Given the description of an element on the screen output the (x, y) to click on. 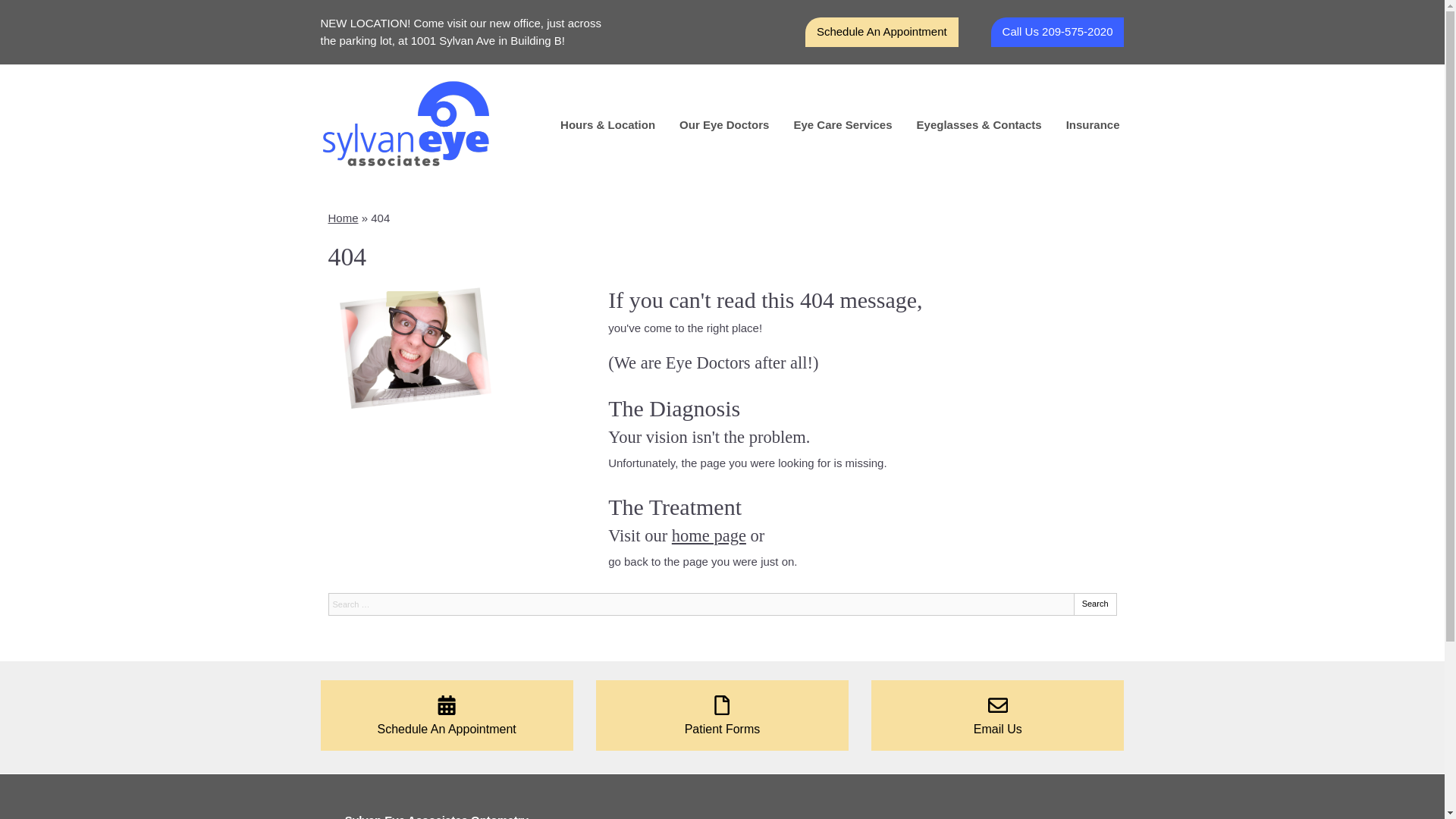
Home (342, 217)
Search (1095, 603)
home page (708, 535)
Patient Forms (721, 715)
Call Us 209-575-2020 (1057, 31)
Eye Care Services (842, 124)
Email Us (997, 715)
Insurance (1093, 124)
Schedule An Appointment (881, 31)
